Given the description of an element on the screen output the (x, y) to click on. 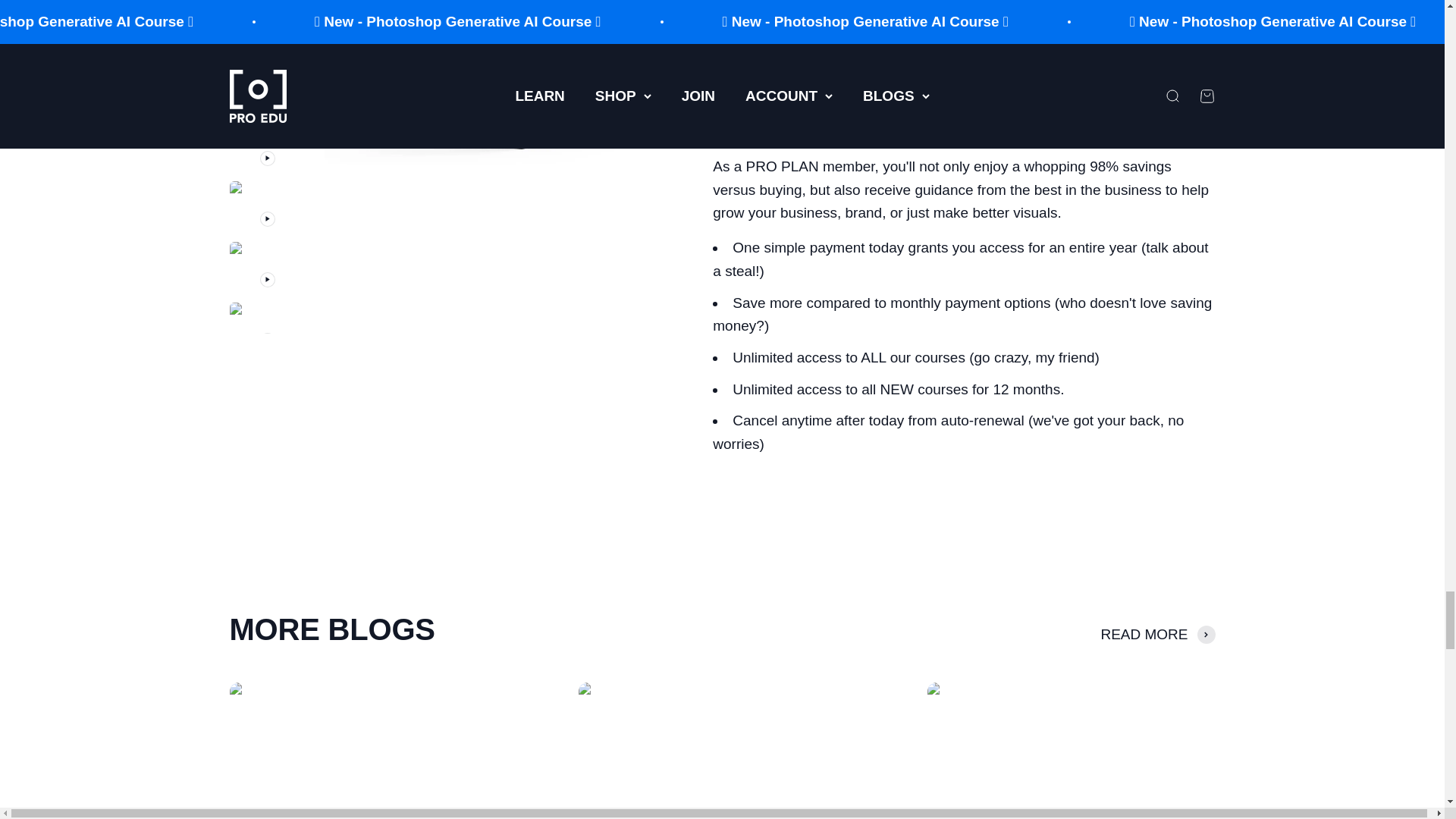
Learn PRO EDU Platform (903, 56)
